Given the description of an element on the screen output the (x, y) to click on. 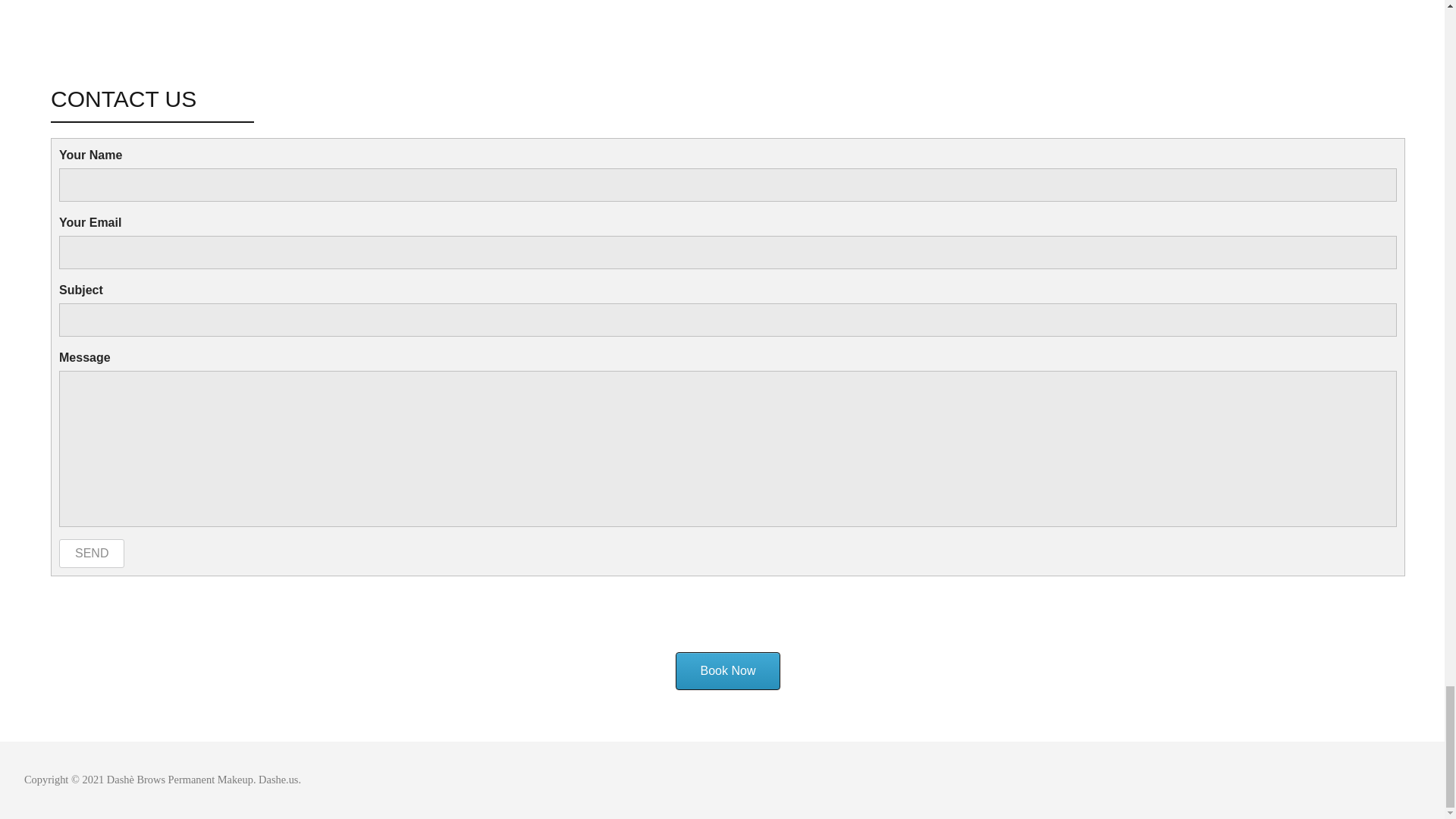
Book Now (727, 670)
Send (91, 553)
Send (91, 553)
